Given the description of an element on the screen output the (x, y) to click on. 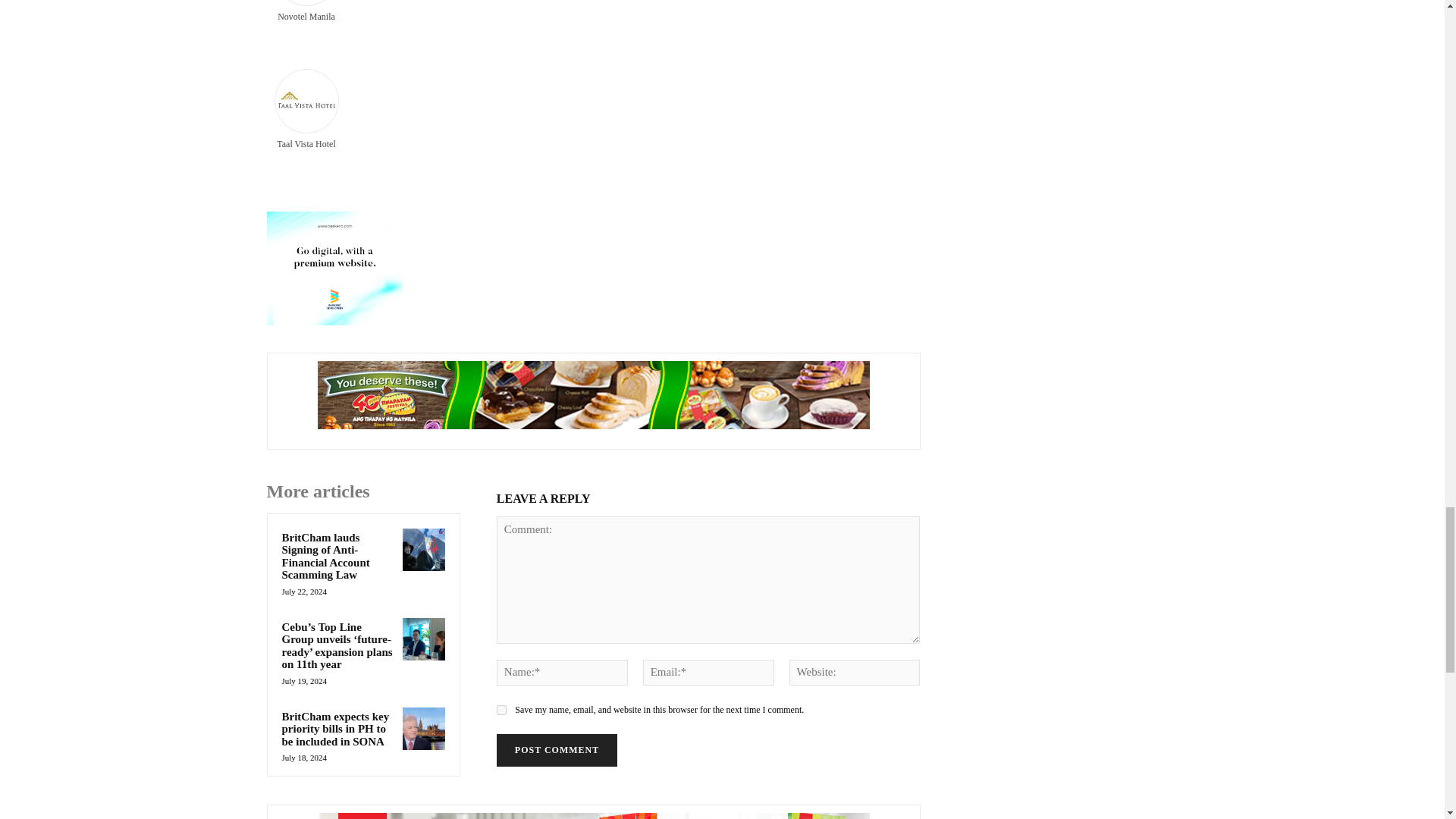
yes (501, 709)
Post Comment (556, 749)
